Given the description of an element on the screen output the (x, y) to click on. 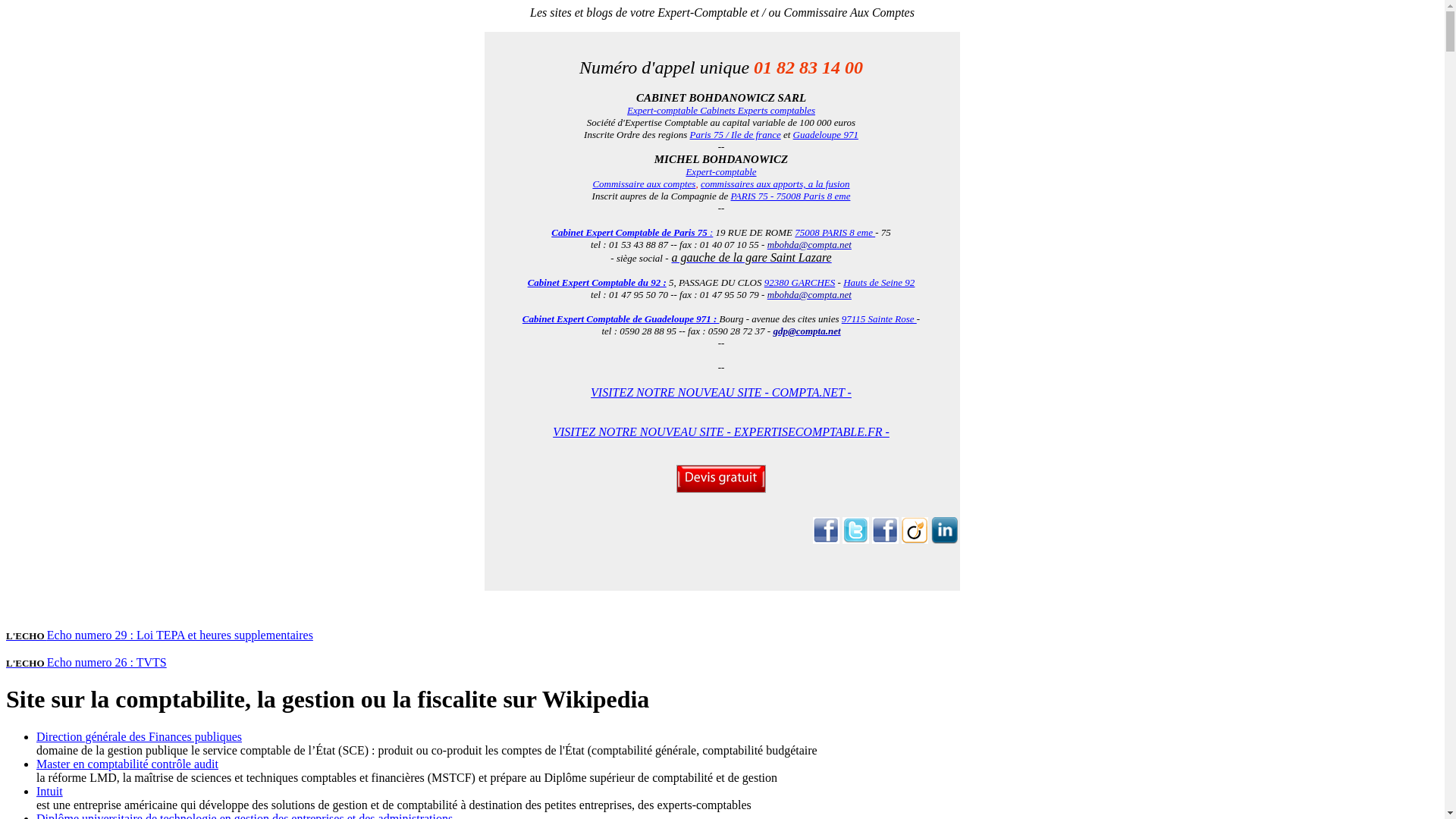
commissaires aux apports, a la fusion Element type: text (775, 183)
Echo numero 29 : Loi TEPA et heures supplementaires Element type: text (200, 641)
gdp@compta.net Element type: text (806, 329)
Cabinet Expert Comptable de Paris 75 : Element type: text (631, 232)
Paris 75 / Ile de france Element type: text (734, 134)
Intuit Element type: text (49, 790)
mbohda@compta.net Element type: text (809, 244)
Echo numero 26 : TVTS Element type: text (106, 661)
Guadeloupe 971 Element type: text (825, 134)
75008 PARIS 8 eme Element type: text (834, 232)
Cabinet Expert Comptable du 92 : Element type: text (596, 282)
a gauche de la gare Saint Lazare Element type: text (751, 257)
Cabinet Expert Comptable de Guadeloupe 971 : Element type: text (620, 318)
Expert-comptable Element type: text (720, 171)
Hauts de Seine 92 Element type: text (878, 282)
VISITEZ NOTRE NOUVEAU SITE - COMPTA.NET - Element type: text (720, 398)
L'ECHO Element type: text (26, 634)
Expert-comptable Cabinets Experts comptables Element type: text (721, 110)
mbohda@compta.net Element type: text (809, 294)
VISITEZ NOTRE NOUVEAU SITE - EXPERTISECOMPTABLE.FR - Element type: text (720, 438)
Commissaire aux comptes Element type: text (643, 183)
92380 GARCHES Element type: text (799, 282)
PARIS 75 - 75008 Paris 8 eme Element type: text (790, 195)
L'ECHO Element type: text (26, 661)
97115 Sainte Rose Element type: text (878, 318)
